Given the description of an element on the screen output the (x, y) to click on. 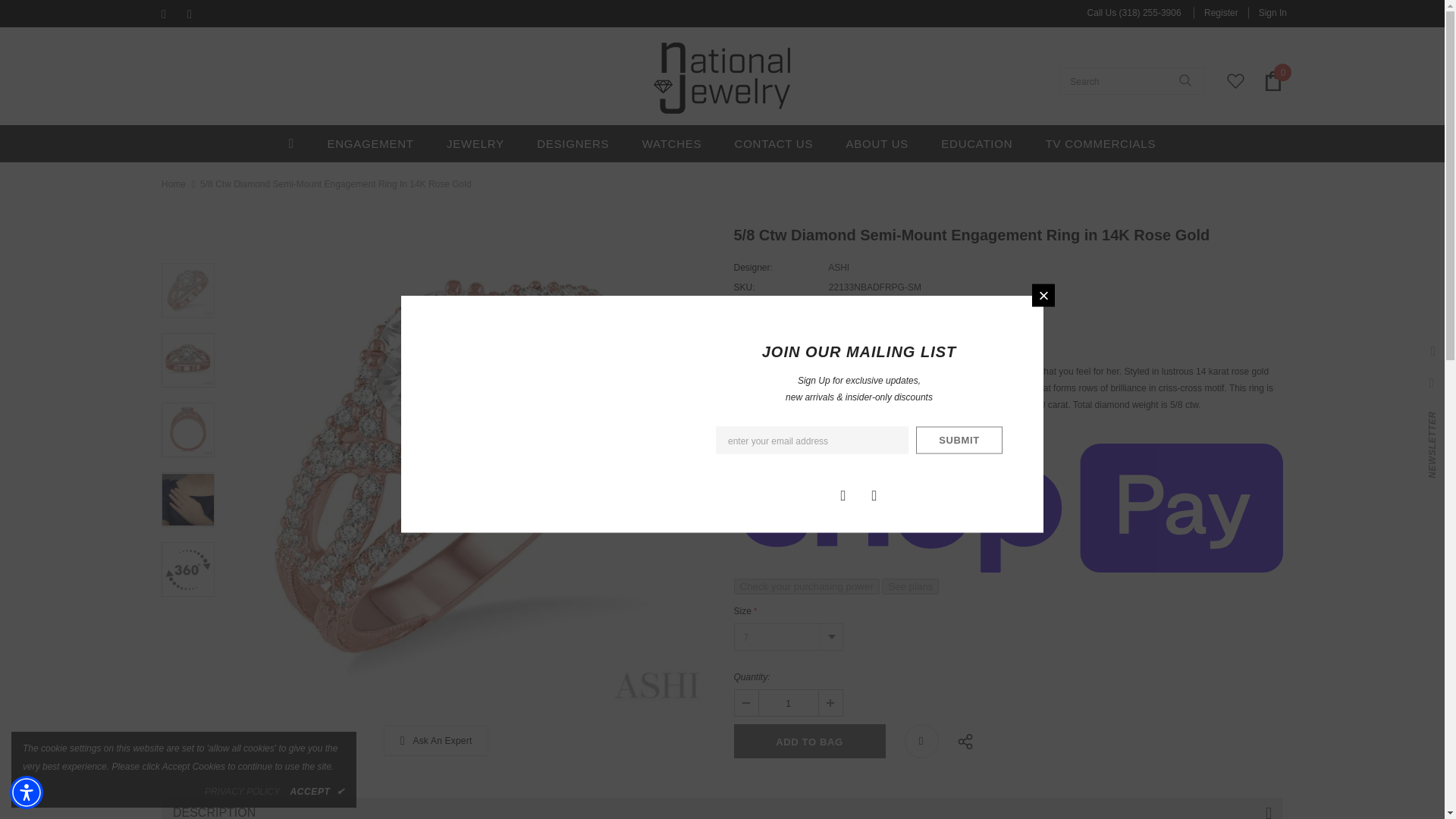
Sign In (1267, 12)
Register (1221, 12)
1 (787, 702)
Submit (959, 439)
Accessibility Menu (26, 792)
Add to Bag (809, 740)
